Given the description of an element on the screen output the (x, y) to click on. 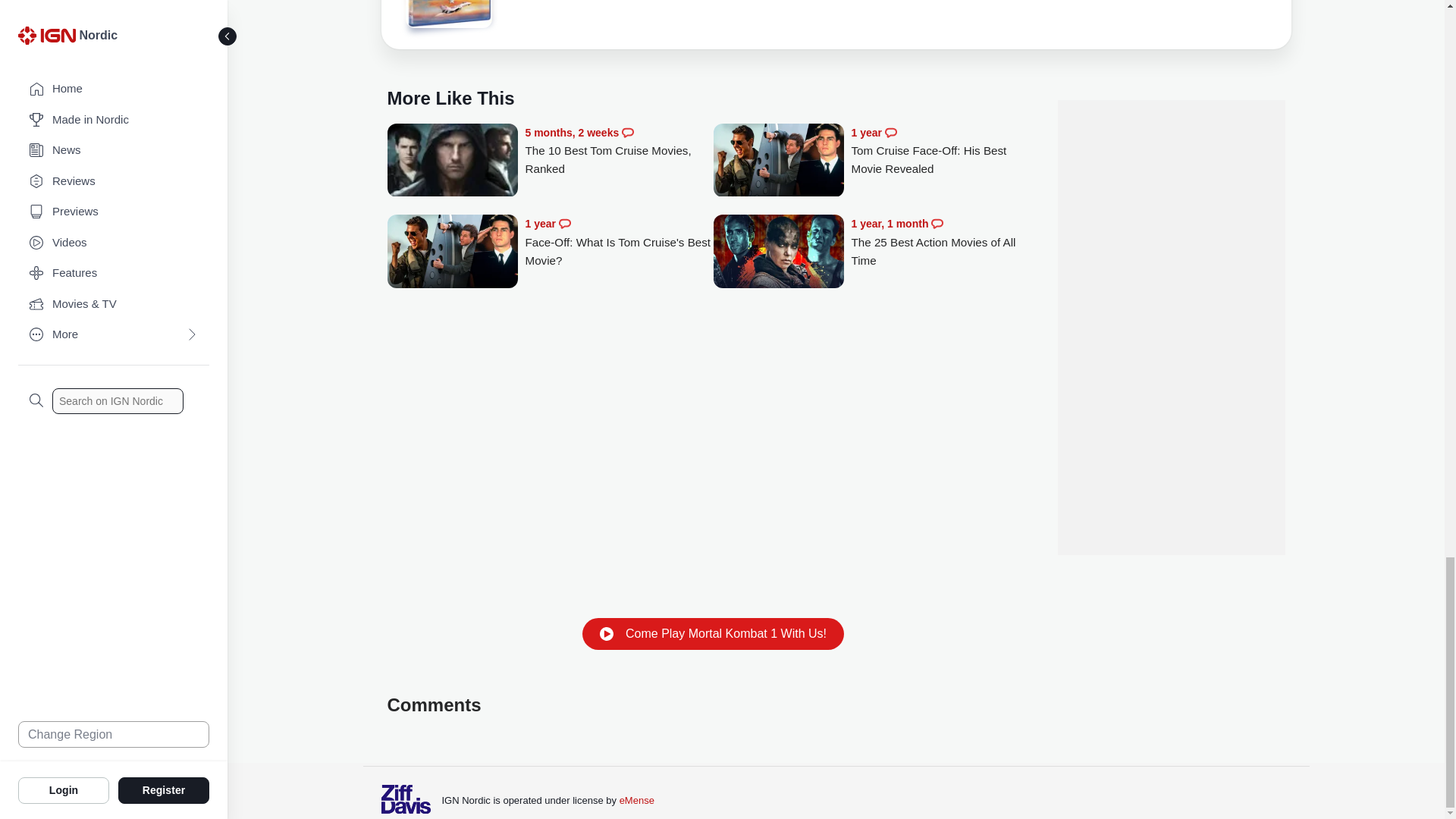
The 10 Best Tom Cruise Movies, Ranked (451, 161)
Tom Cruise Face-Off: His Best Movie Revealed (778, 161)
Face-Off: What Is Tom Cruise's Best Movie? (451, 252)
The 10 Best Tom Cruise Movies, Ranked (618, 151)
Face-Off: What Is Tom Cruise's Best Movie? (618, 242)
top-gun (448, 16)
Comments (564, 223)
The 25 Best Action Movies of All Time (778, 252)
Comments (890, 132)
Comments (627, 132)
Comments (937, 223)
top-gun (448, 13)
The 25 Best Action Movies of All Time (944, 242)
Tom Cruise Face-Off: His Best Movie Revealed (944, 151)
